Given the description of an element on the screen output the (x, y) to click on. 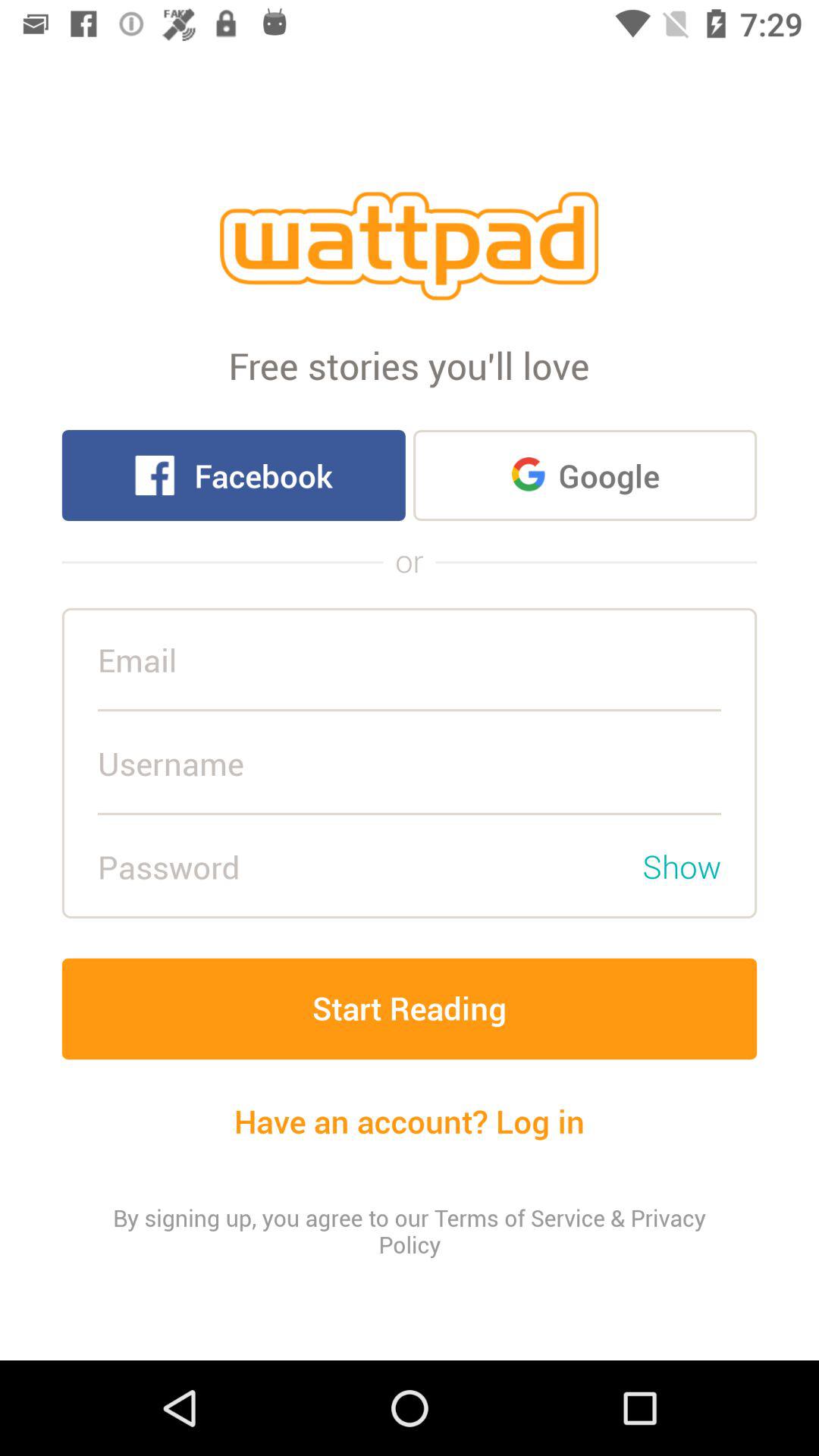
go to show (681, 866)
select google (584, 475)
go to the email field (409, 660)
click the password field (363, 866)
click on the start reading (409, 1008)
select the declaration text at the bottom (409, 1230)
